Given the description of an element on the screen output the (x, y) to click on. 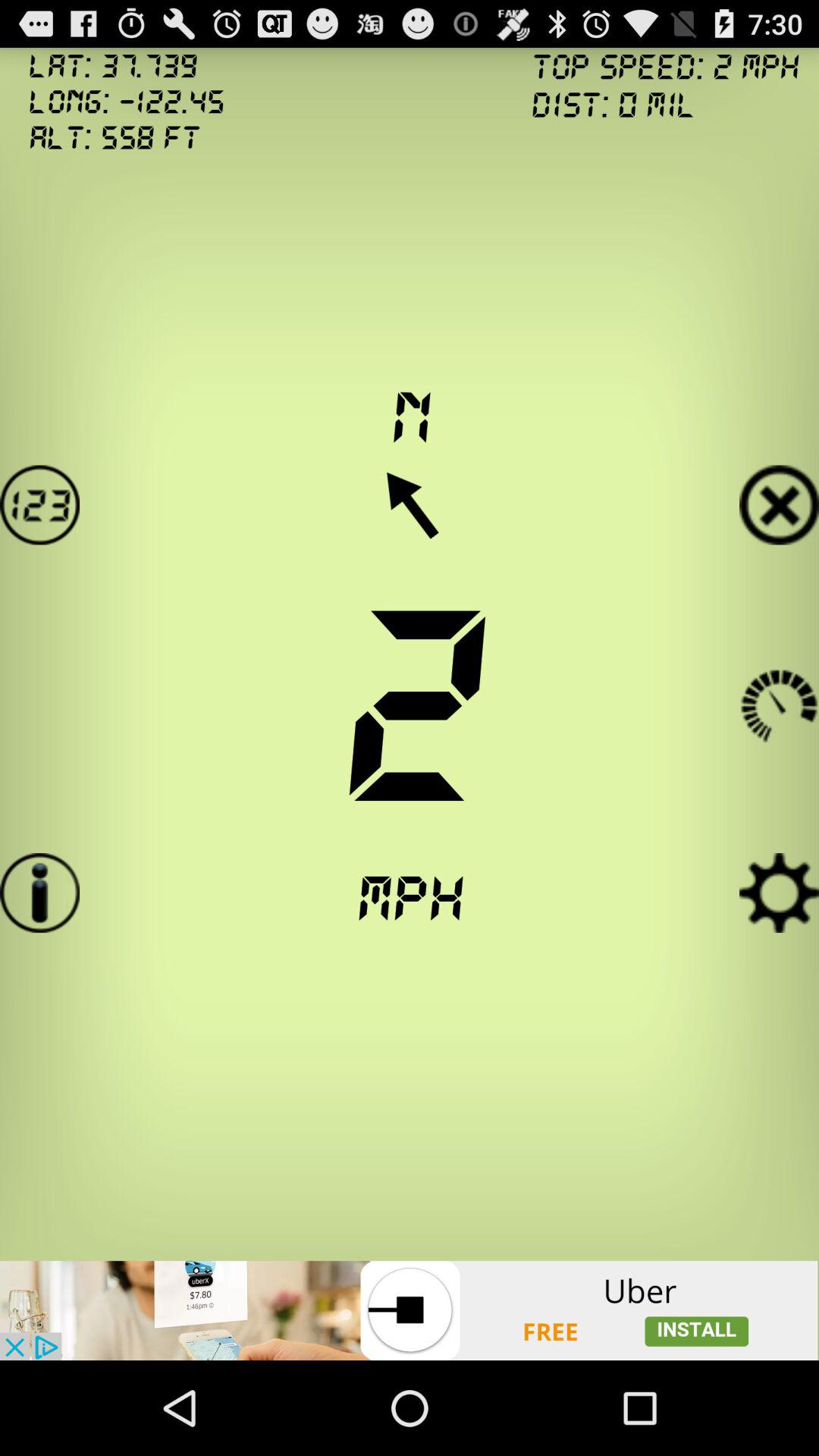
info (39, 892)
